Given the description of an element on the screen output the (x, y) to click on. 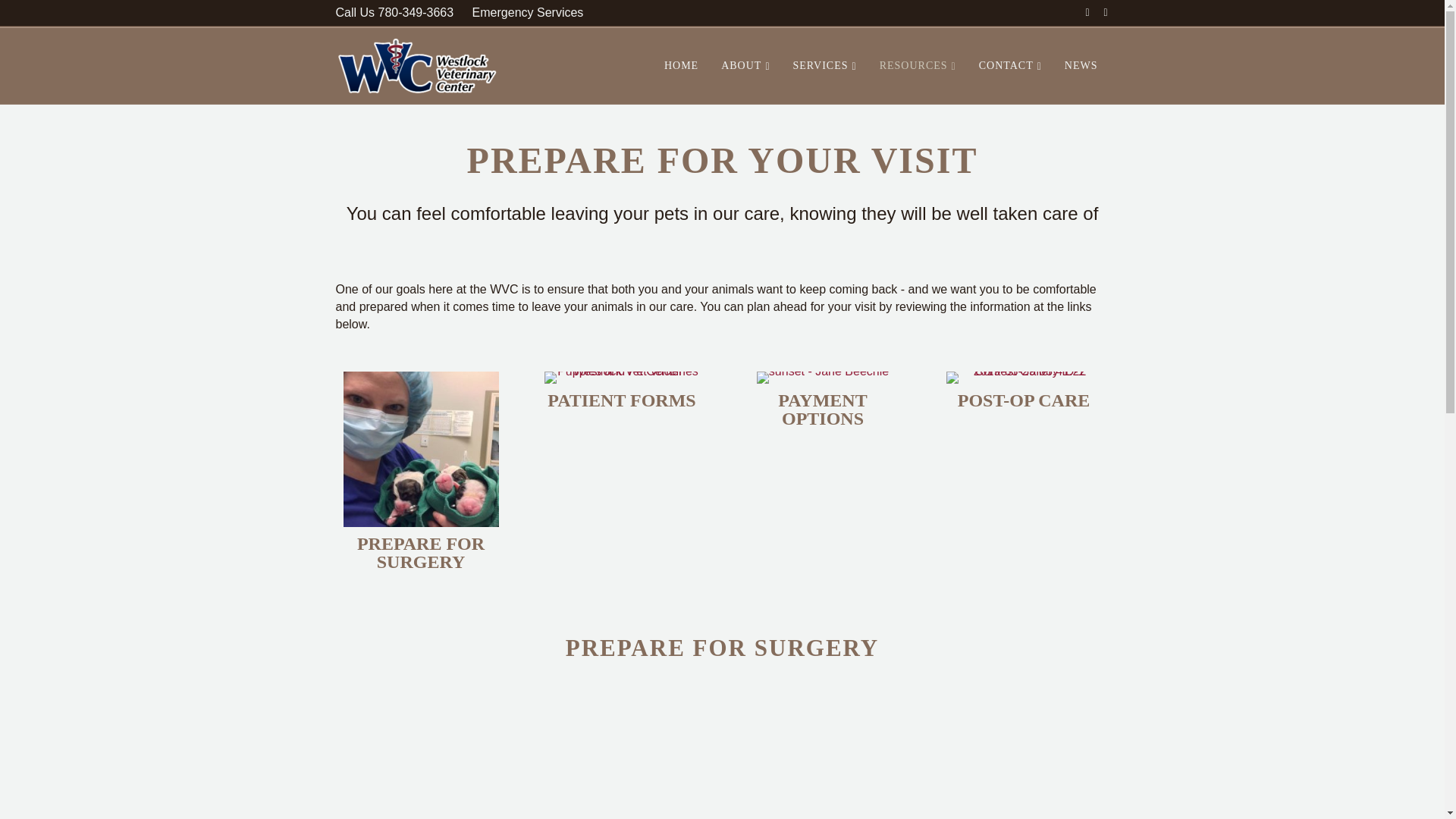
Facebook (1079, 11)
Post-Op Care (1023, 400)
sunset - Jane Beechie (822, 377)
Payment Options (821, 409)
PATIENT FORMS (621, 400)
PAYMENT OPTIONS (821, 409)
Call Us 780-349-3663 (394, 13)
NEWS (1080, 65)
Westlock Vet Center - Leaving Your Pet for Surgery (524, 749)
ABOUT (745, 65)
Pet Vaccines (622, 377)
CONTACT (1010, 65)
Prepare for Surgery (420, 552)
c-section (419, 449)
RESOURCES (917, 65)
